Given the description of an element on the screen output the (x, y) to click on. 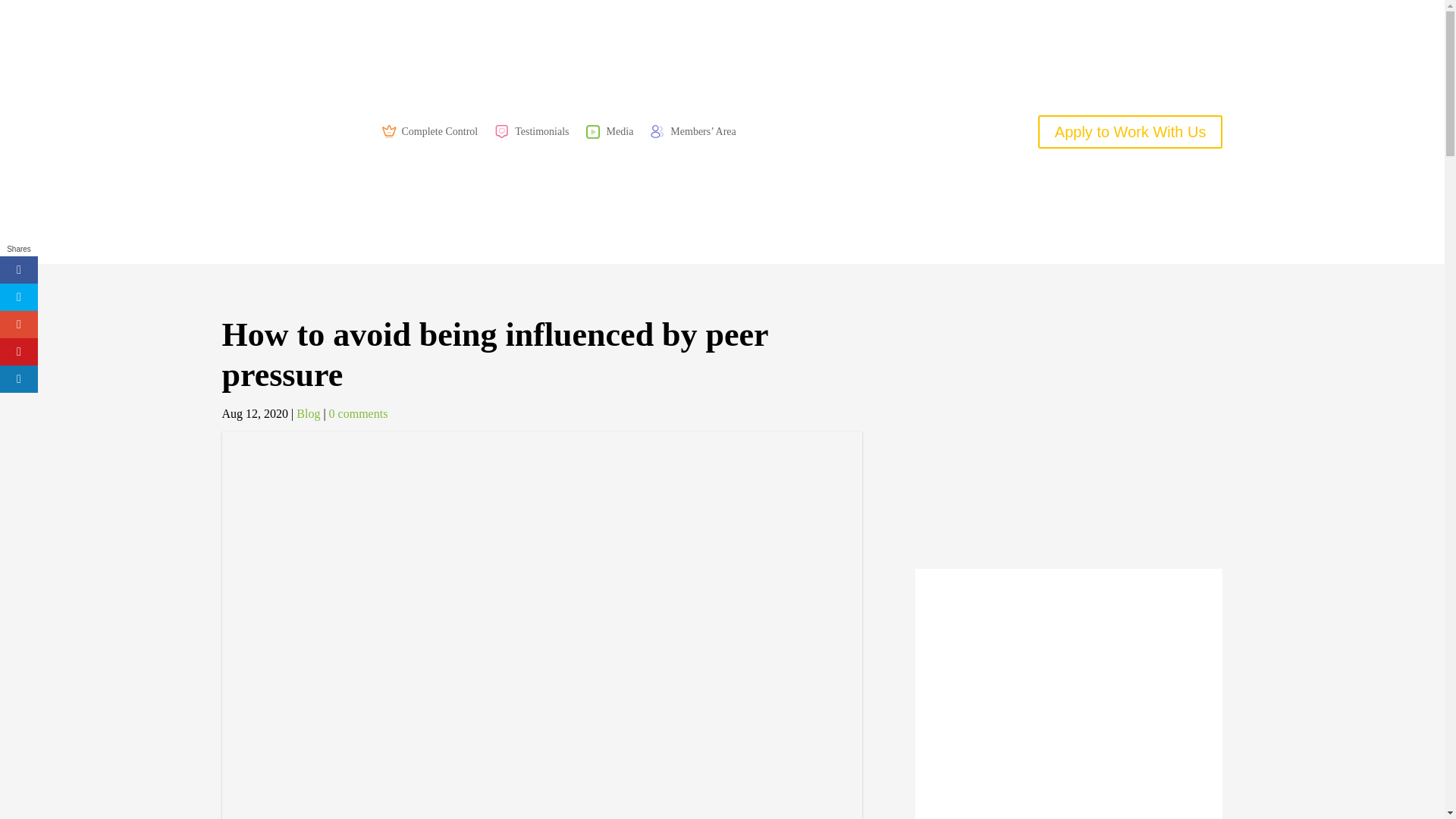
Apply to Work With Us (1130, 131)
Blog (308, 413)
0 comments (358, 413)
